Given the description of an element on the screen output the (x, y) to click on. 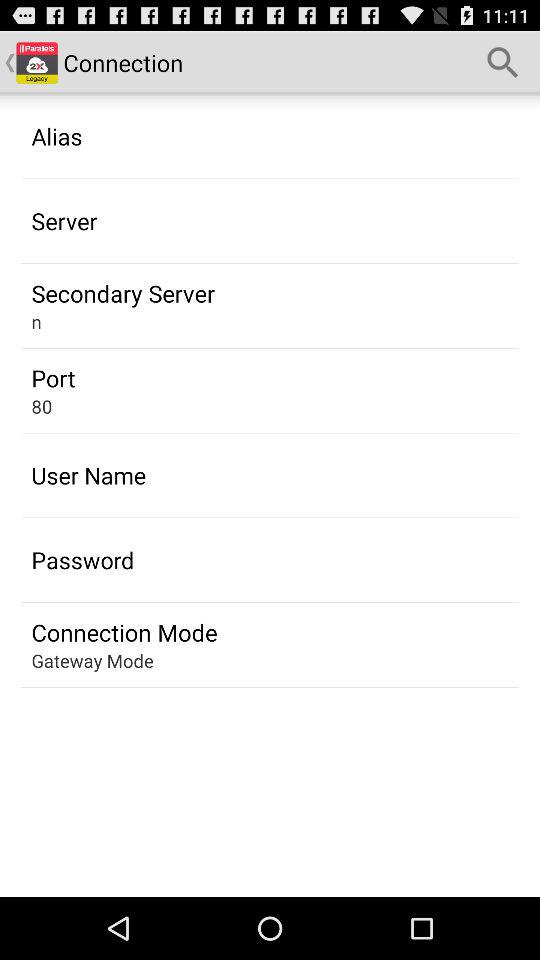
click n icon (36, 321)
